Given the description of an element on the screen output the (x, y) to click on. 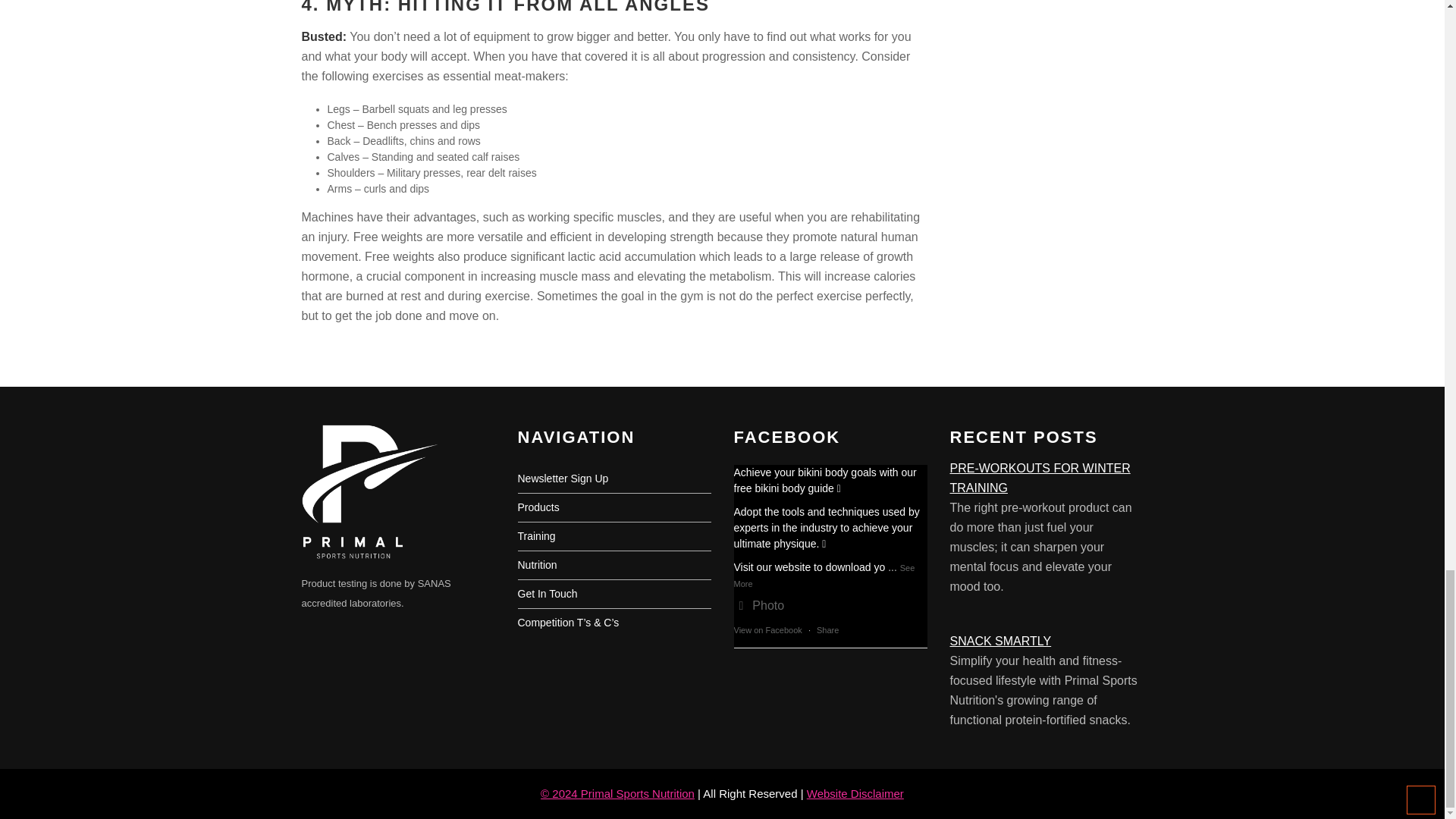
Training (535, 535)
Get In Touch (546, 593)
Newsletter Sign Up (562, 478)
Products (537, 507)
Share (827, 629)
View on Facebook (767, 629)
Nutrition (536, 564)
